Given the description of an element on the screen output the (x, y) to click on. 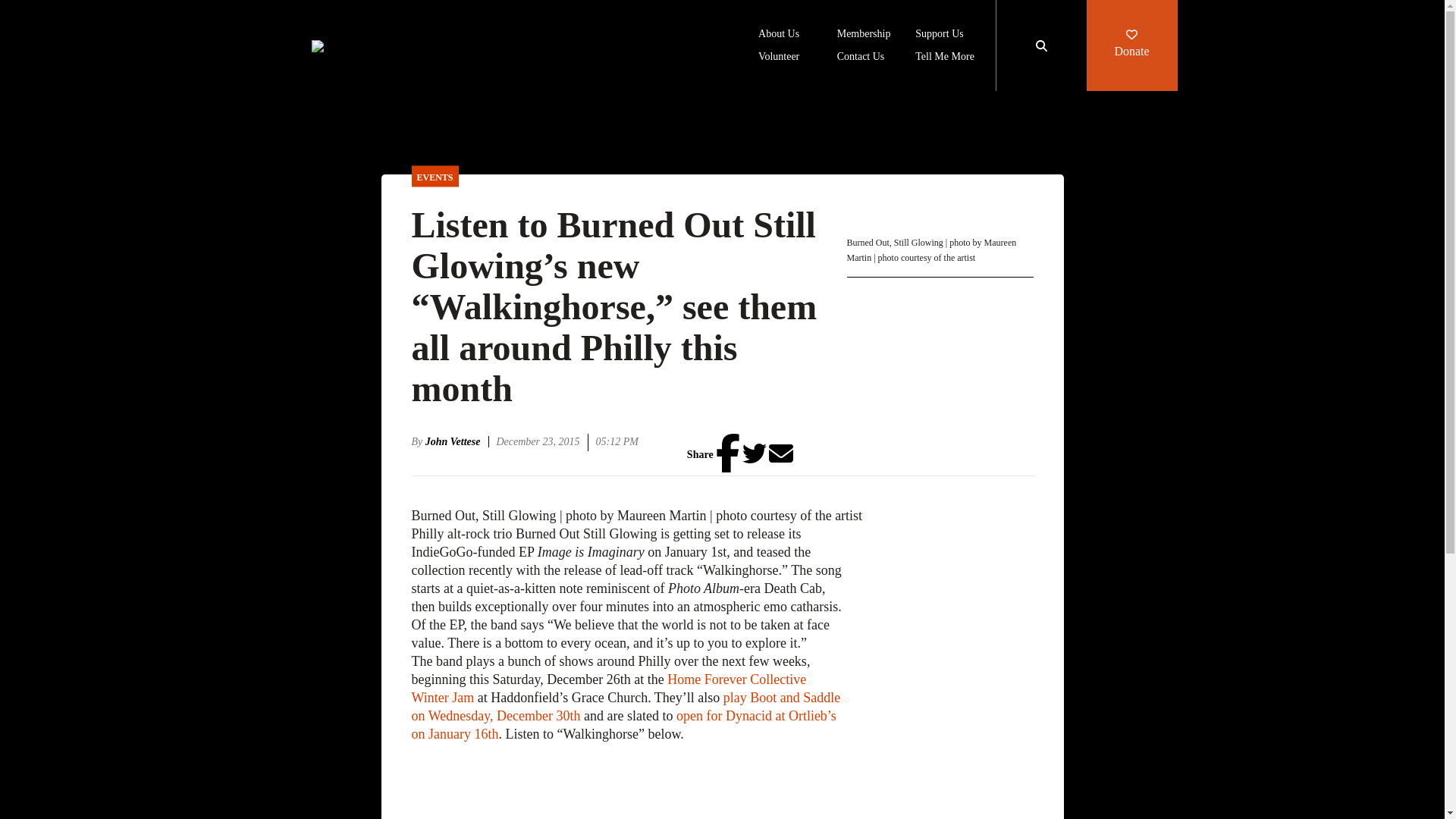
Volunteer (778, 57)
Membership (864, 35)
Donate (1131, 45)
John Vettese (457, 441)
Support Us (938, 35)
Home Forever Collective Winter Jam (608, 688)
Contact Us (861, 57)
Tell Me More (944, 57)
play Boot and Saddle on Wednesday, December 30th (625, 706)
About Us (778, 35)
